Given the description of an element on the screen output the (x, y) to click on. 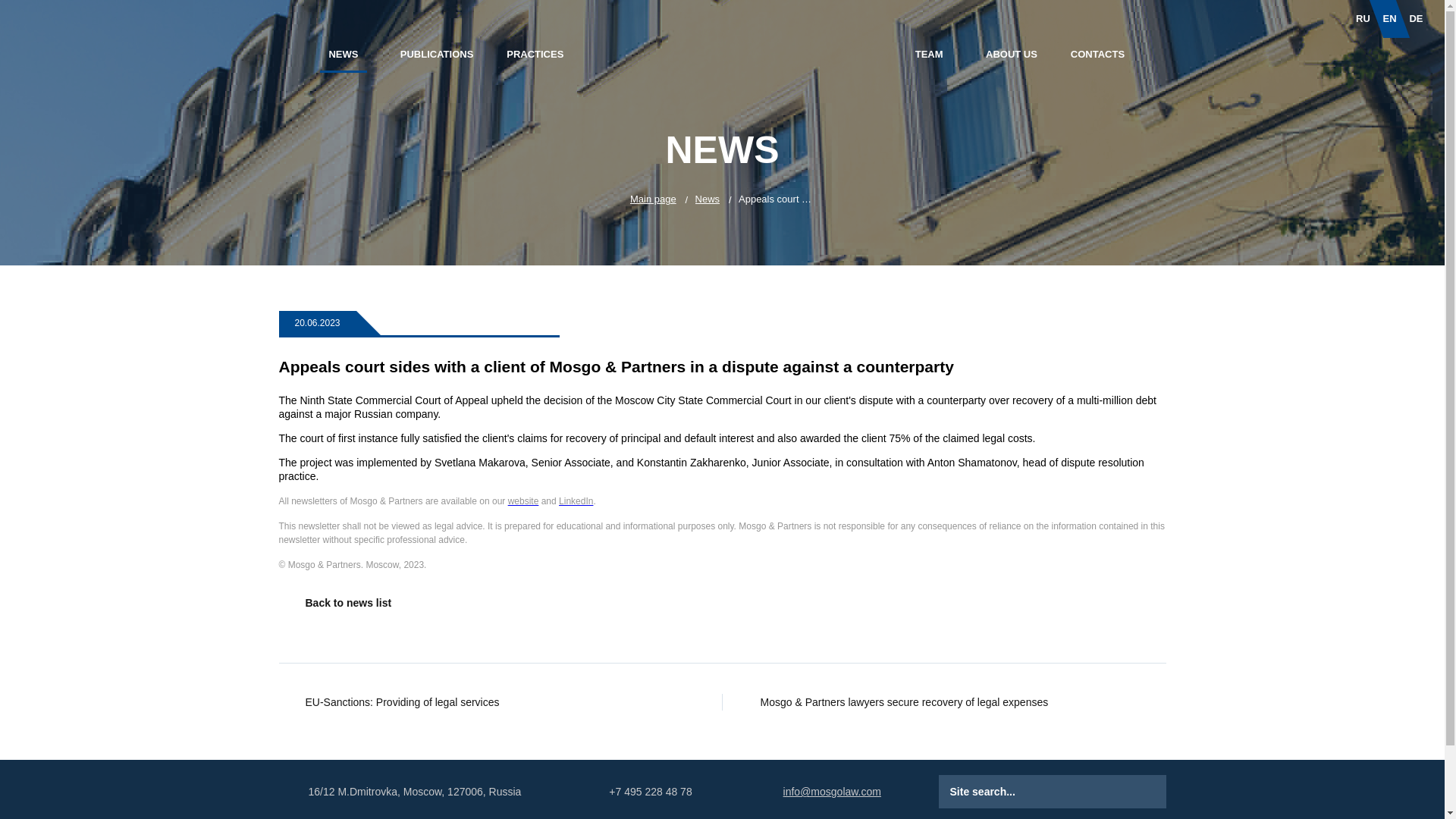
NEWS (343, 55)
News (707, 199)
TEAM (928, 54)
EU-Sanctions: Providing of legal services (500, 701)
Search (1124, 791)
News (707, 199)
Main page (653, 199)
Back to news list (500, 602)
PRACTICES (534, 54)
LinkedIn (575, 500)
